Given the description of an element on the screen output the (x, y) to click on. 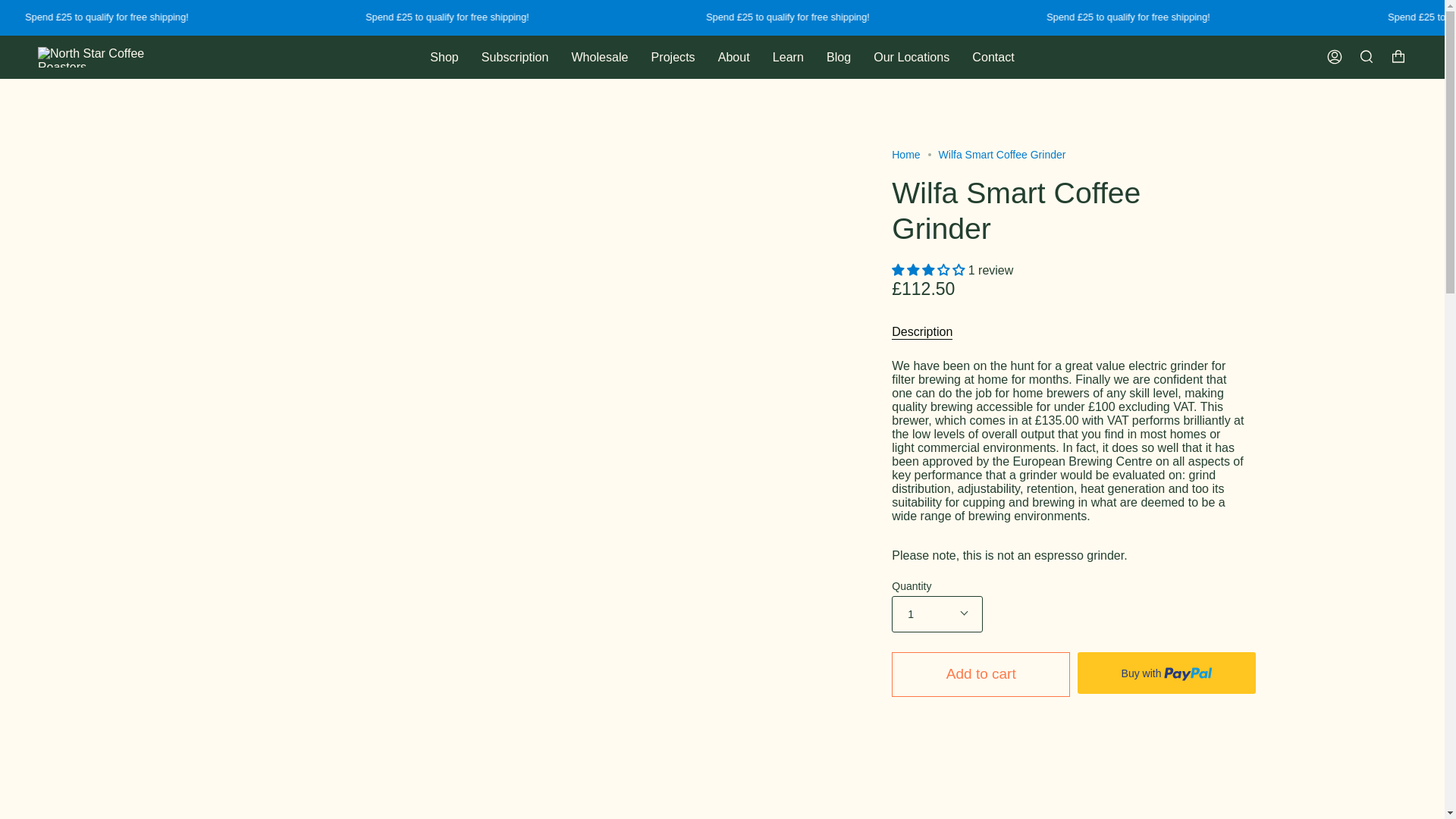
About (733, 57)
Subscription (515, 57)
Projects (673, 57)
Shop (444, 57)
Wholesale (599, 57)
Learn (788, 57)
